Given the description of an element on the screen output the (x, y) to click on. 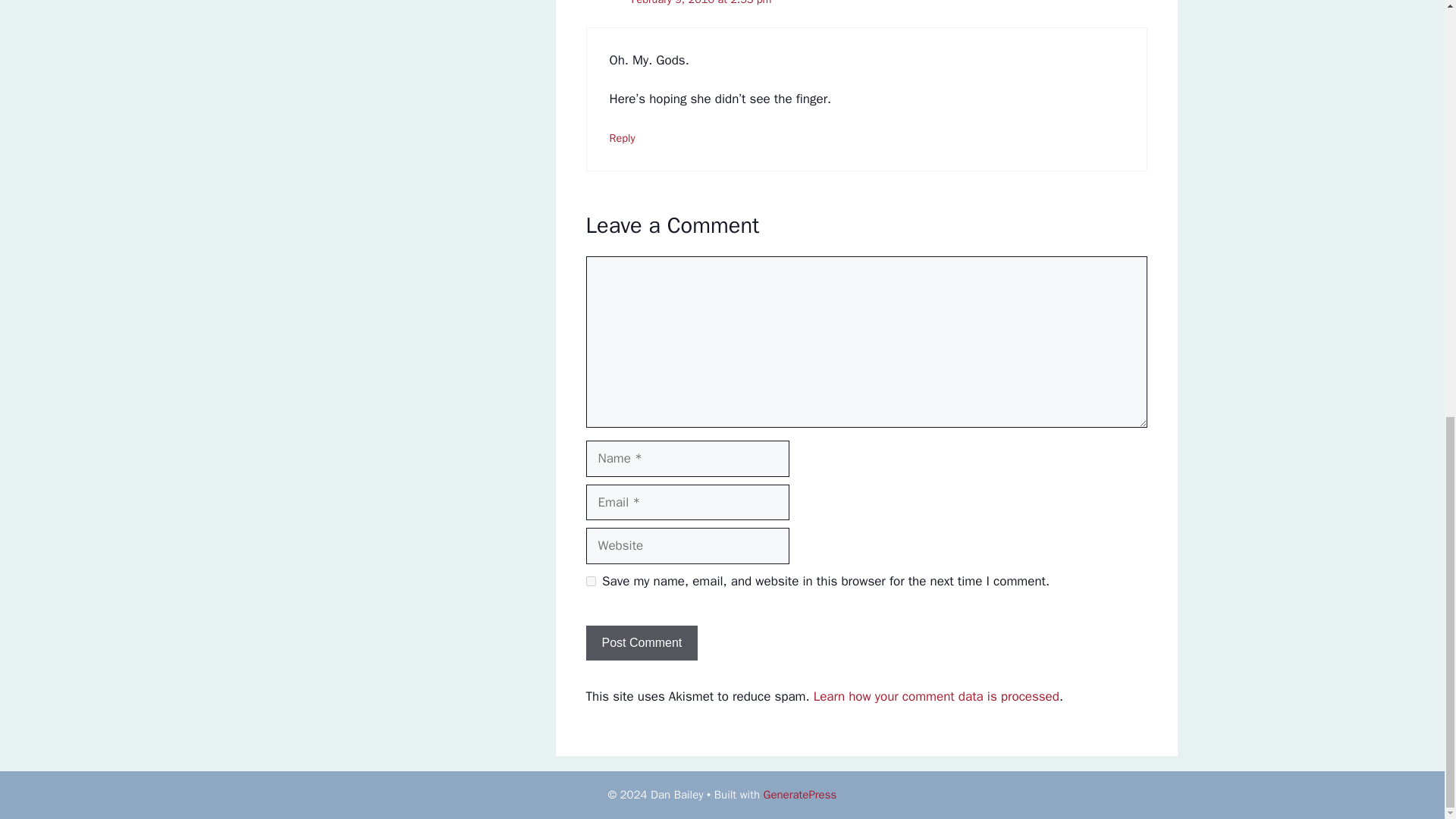
yes (590, 581)
Post Comment (641, 642)
February 9, 2010 at 2:53 pm (700, 2)
Reply (622, 137)
Learn how your comment data is processed (936, 696)
Post Comment (641, 642)
